Given the description of an element on the screen output the (x, y) to click on. 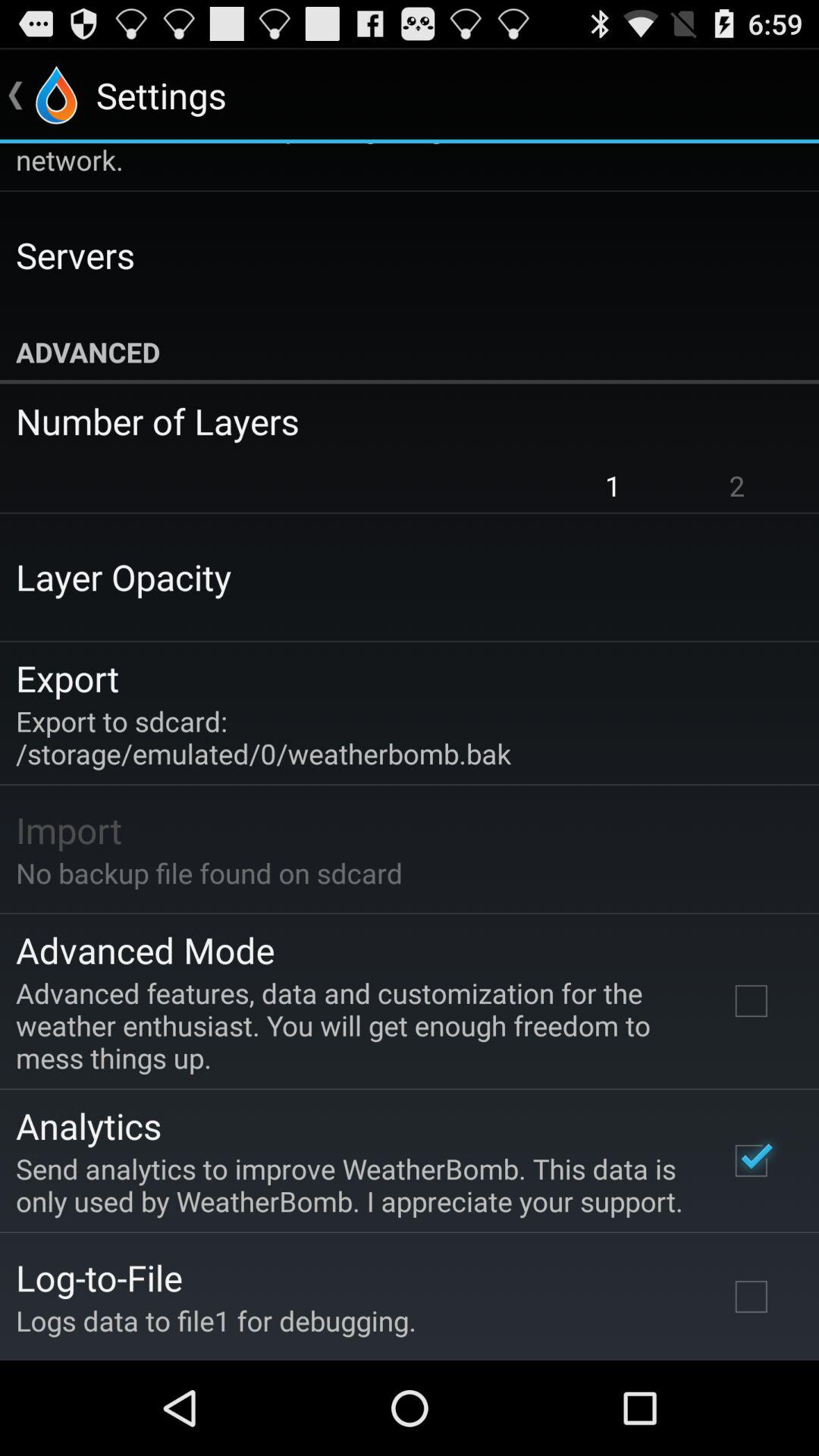
select icon below the default action when (74, 254)
